Given the description of an element on the screen output the (x, y) to click on. 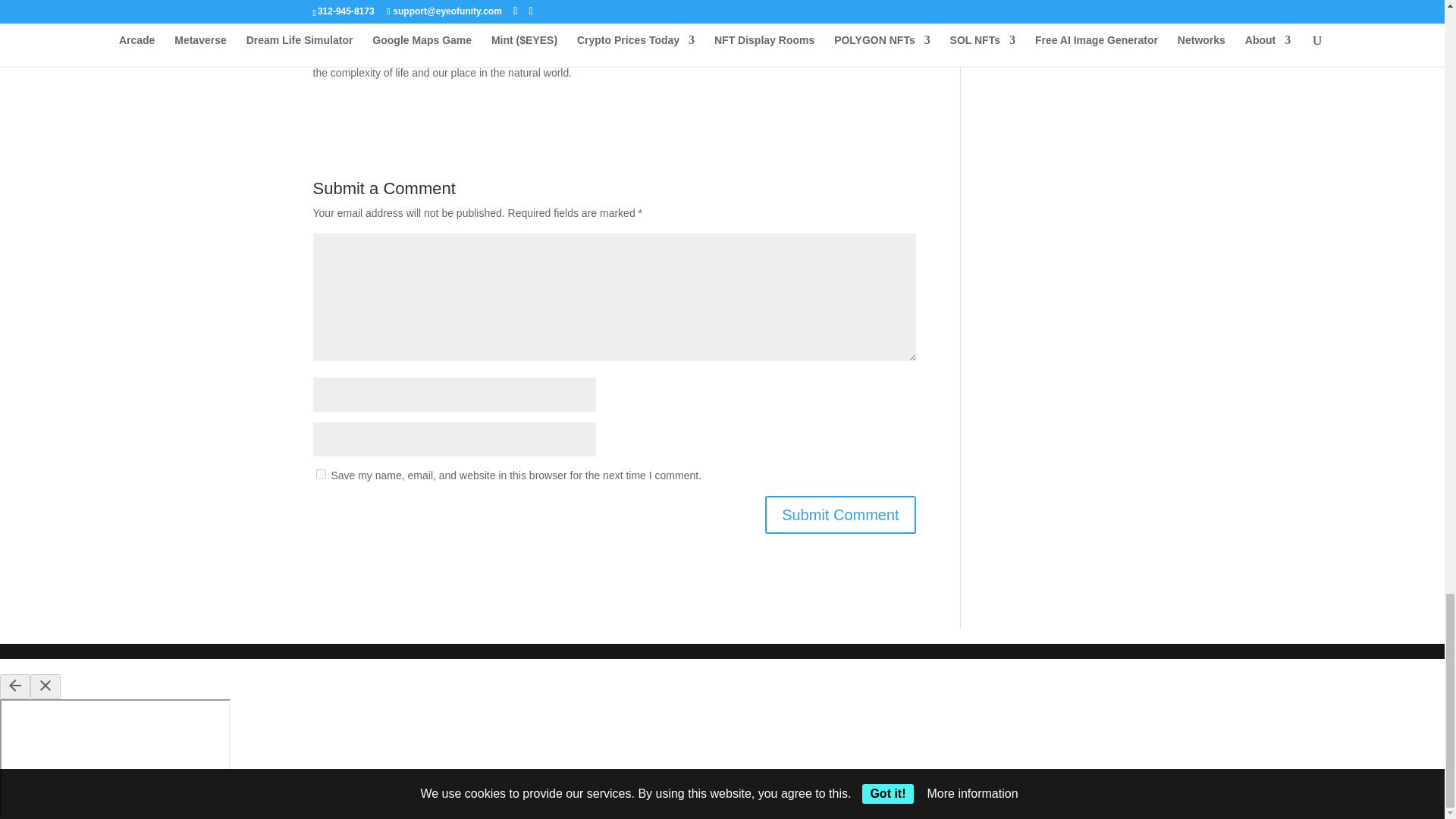
yes (319, 474)
Submit Comment (840, 514)
